Given the description of an element on the screen output the (x, y) to click on. 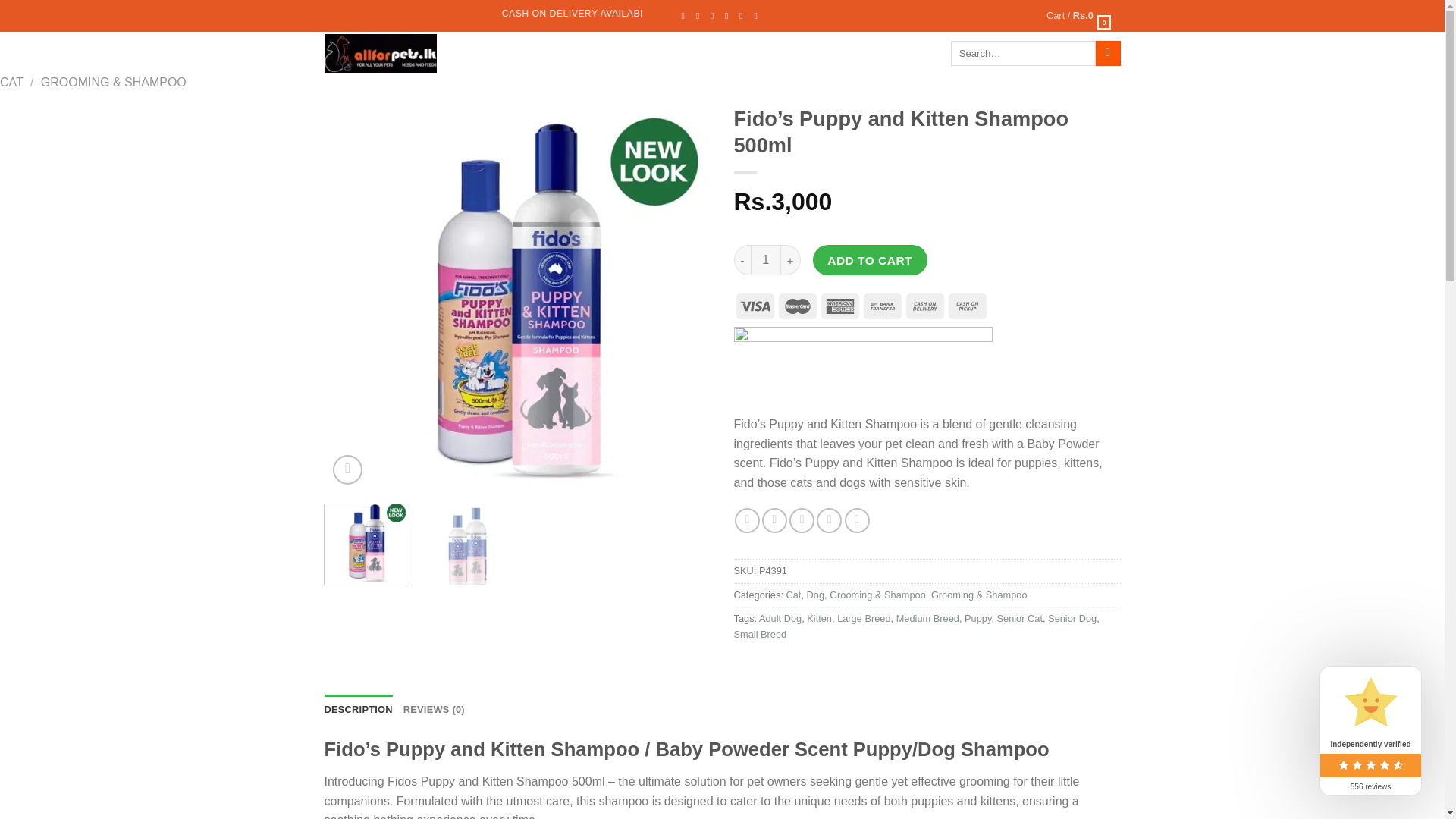
PET SHOP (528, 52)
HOME (474, 52)
Cart (1079, 15)
DOG (581, 52)
Zoom (347, 469)
allforpets.lk - For all your Pet needs and feeds (380, 53)
1 (765, 259)
